Given the description of an element on the screen output the (x, y) to click on. 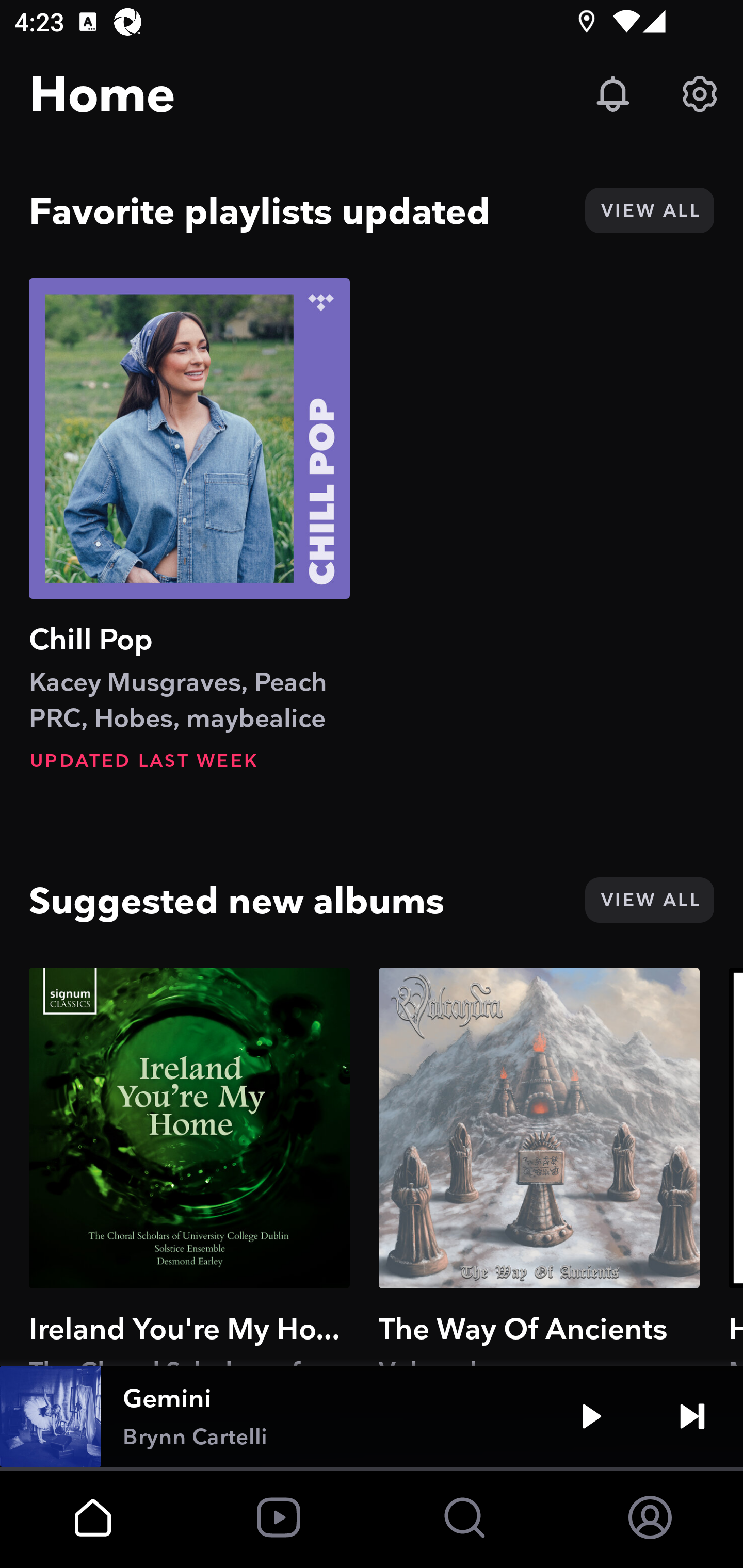
Updates (612, 93)
Settings (699, 93)
VIEW ALL (649, 210)
VIEW ALL (649, 899)
The Way Of Ancients Volcandra (538, 1166)
Gemini Brynn Cartelli Play (371, 1416)
Play (590, 1416)
